Given the description of an element on the screen output the (x, y) to click on. 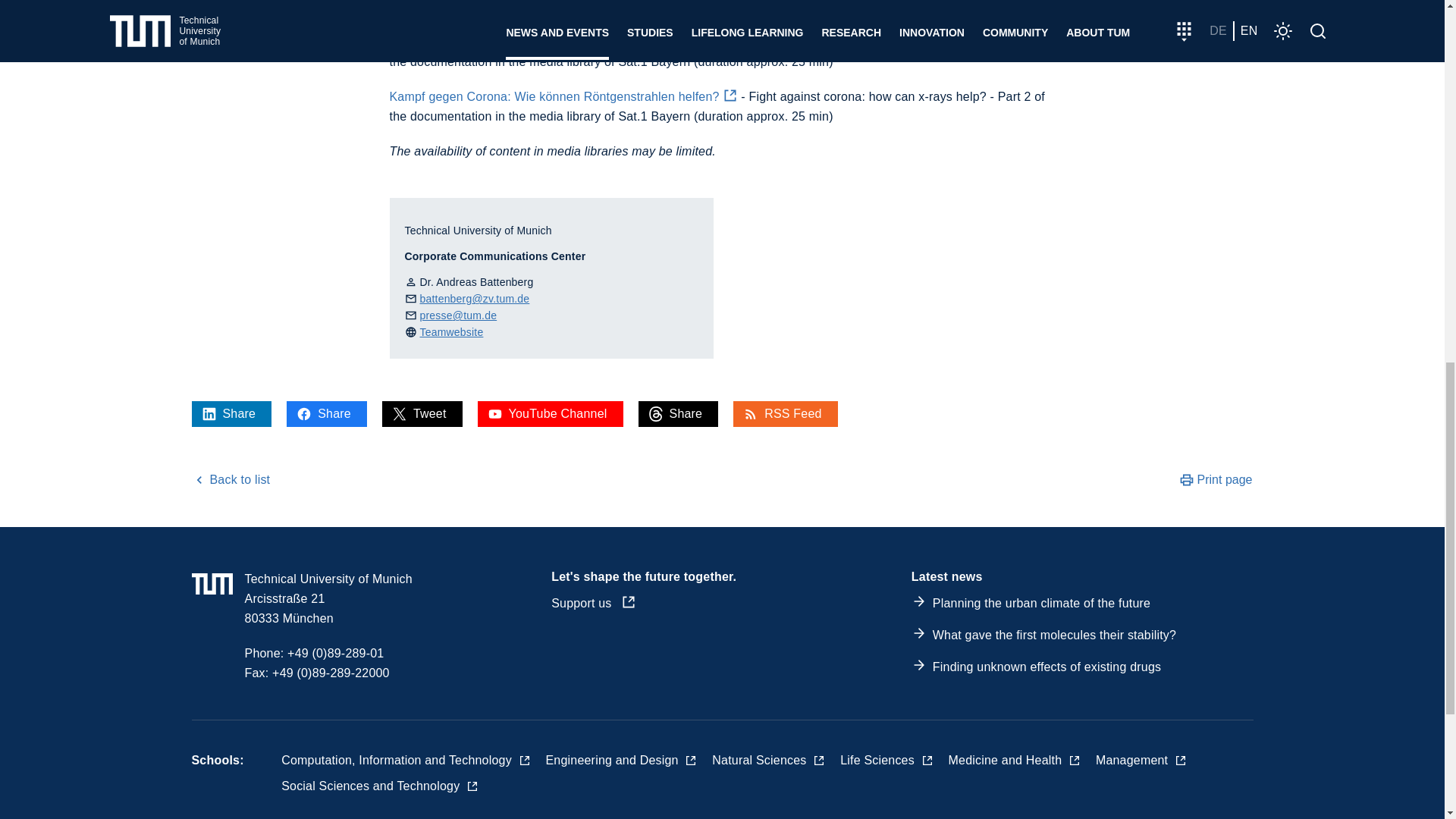
Finding unknown effects of existing drugs (1046, 666)
Second part of the documentary on Covid-19-research at TUM (564, 96)
Planning the urban climate of the future (1041, 603)
First part of the documentary on Covid-19-research at TUM (564, 42)
What gave the first molecules their stability? (1054, 634)
